Given the description of an element on the screen output the (x, y) to click on. 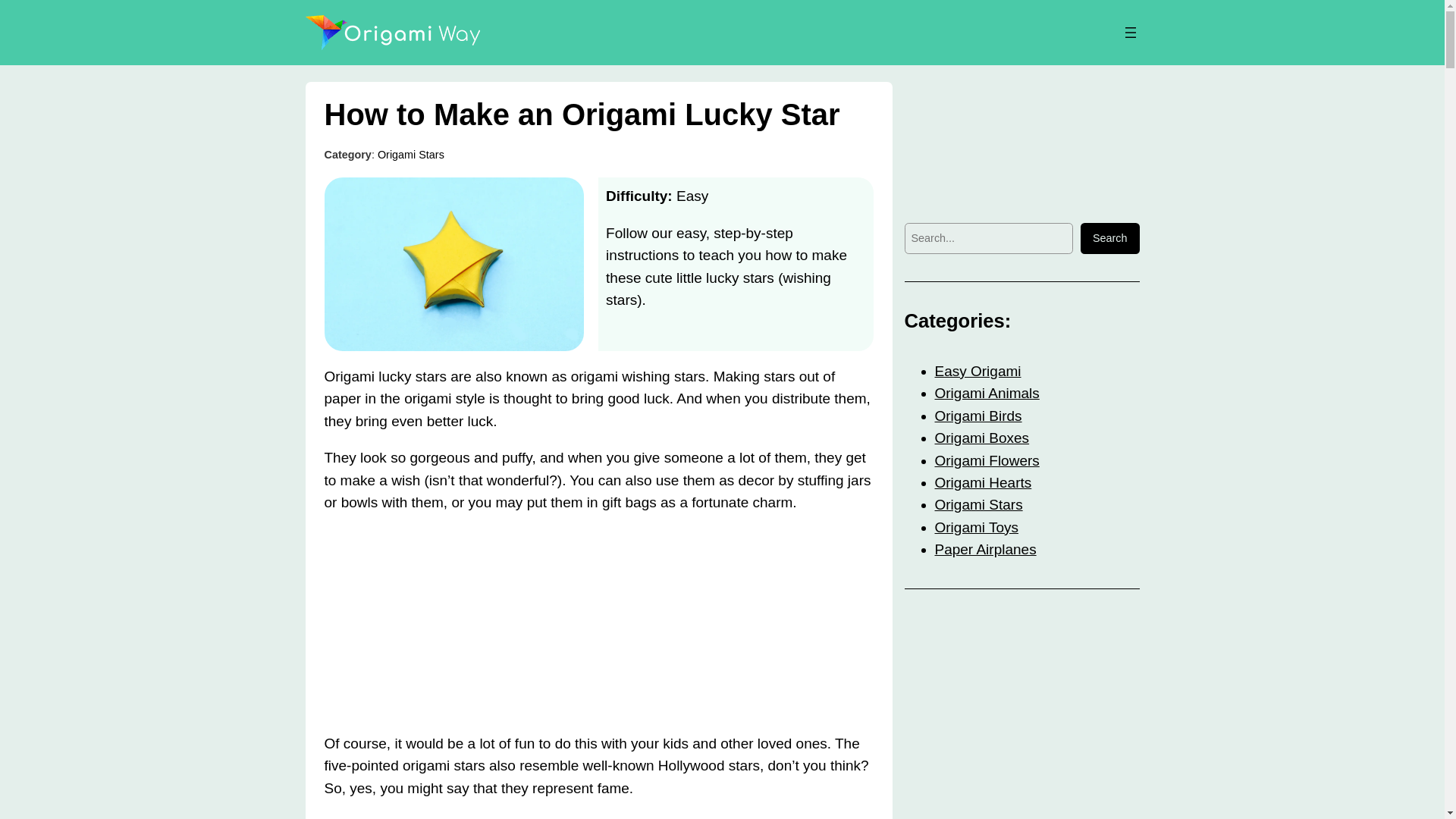
Origami Flowers (986, 460)
Search (1110, 238)
Easy Origami (977, 371)
Origami Toys (975, 527)
Origami Stars (410, 154)
Paper Airplanes (984, 549)
Origami Animals (986, 392)
Origami Birds (978, 415)
Origami Stars (978, 504)
Origami Boxes (981, 437)
Origami Hearts (982, 482)
